Given the description of an element on the screen output the (x, y) to click on. 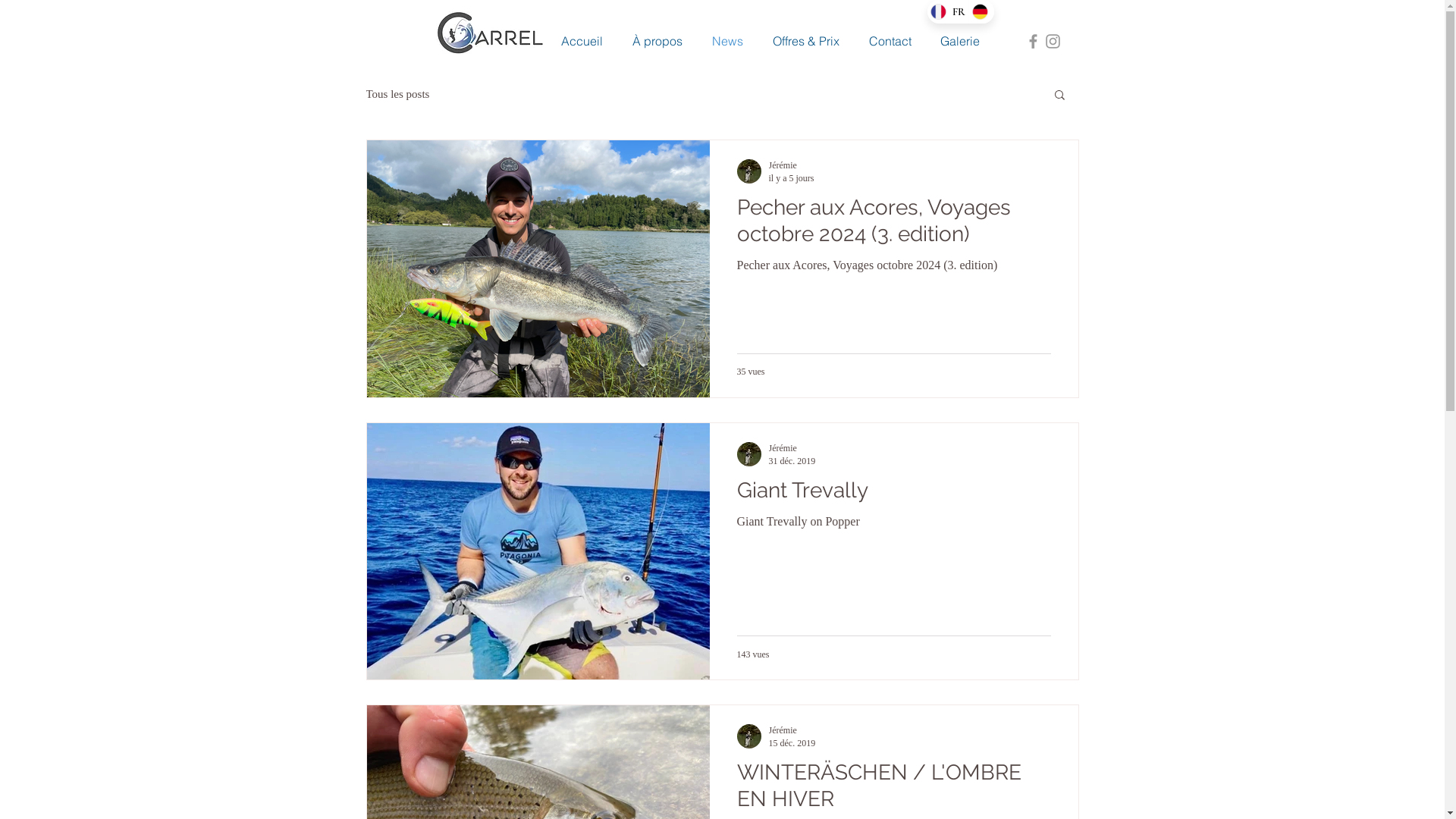
Offres & Prix Element type: text (806, 40)
Pecher aux Acores, Voyages octobre 2024 (3. edition) Element type: text (894, 224)
Accueil Element type: text (581, 40)
News Element type: text (727, 40)
Tous les posts Element type: text (397, 93)
Contact Element type: text (889, 40)
FR Element type: text (946, 11)
Giant Trevally Element type: text (894, 494)
Galerie Element type: text (959, 40)
